Given the description of an element on the screen output the (x, y) to click on. 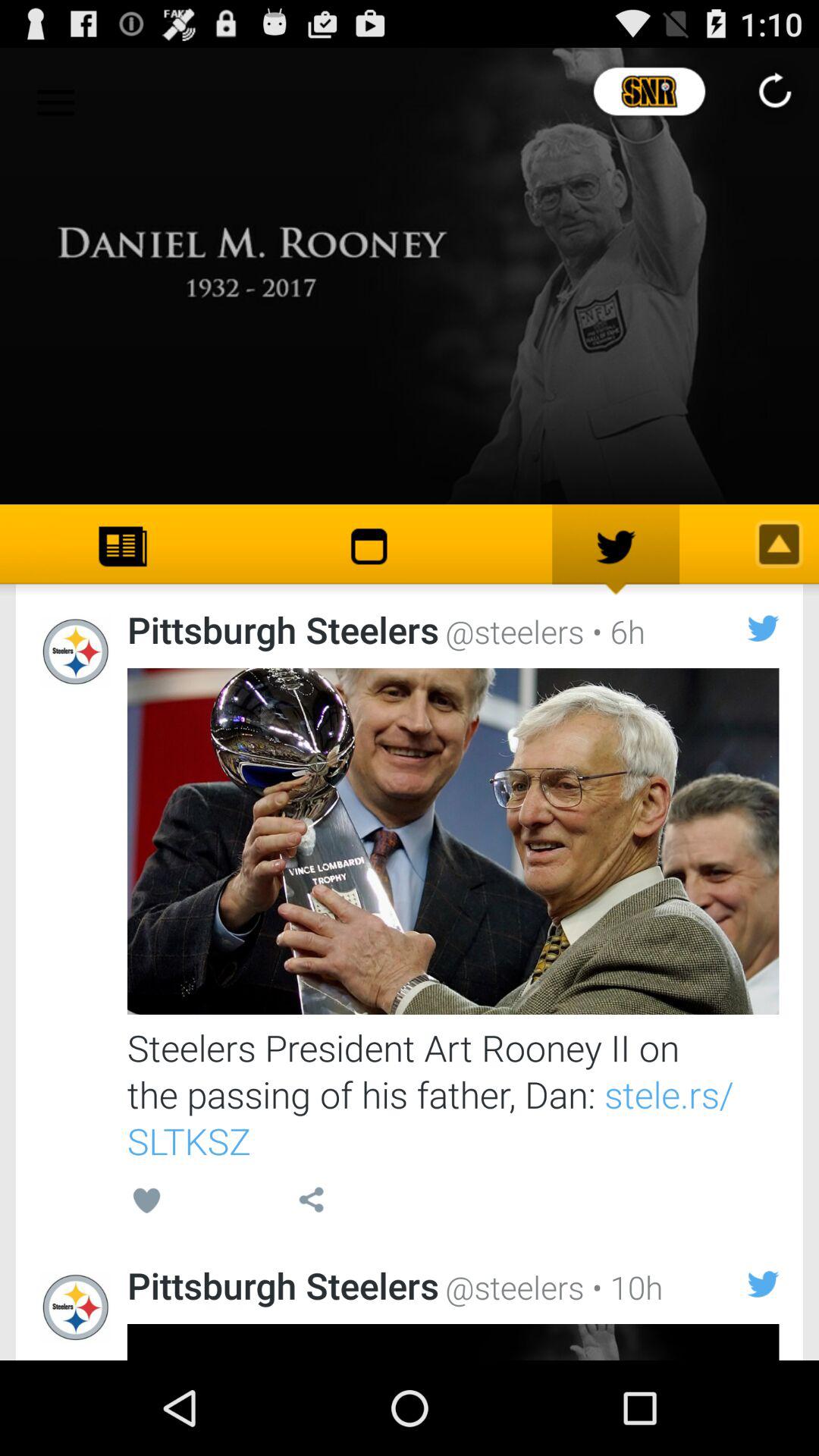
turn off the item to the right of the @steelers item (623, 1286)
